Given the description of an element on the screen output the (x, y) to click on. 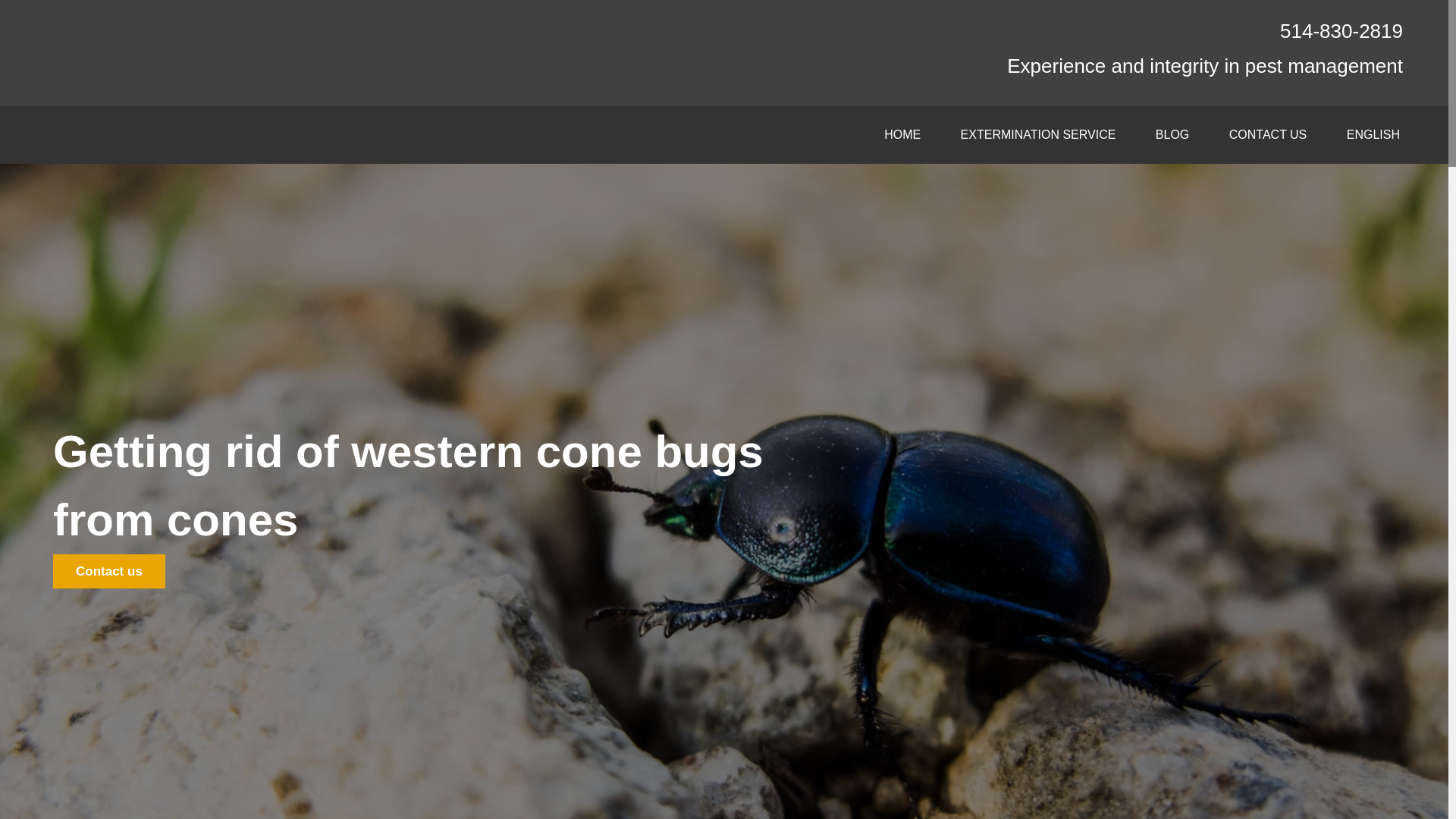
514-830-2819 (1341, 30)
English (1372, 134)
CONTACT US (1267, 134)
EXTERMINATION SERVICE (1038, 134)
HOME (902, 134)
BLOG (1172, 134)
Contact us (108, 571)
ENGLISH (1372, 134)
